Given the description of an element on the screen output the (x, y) to click on. 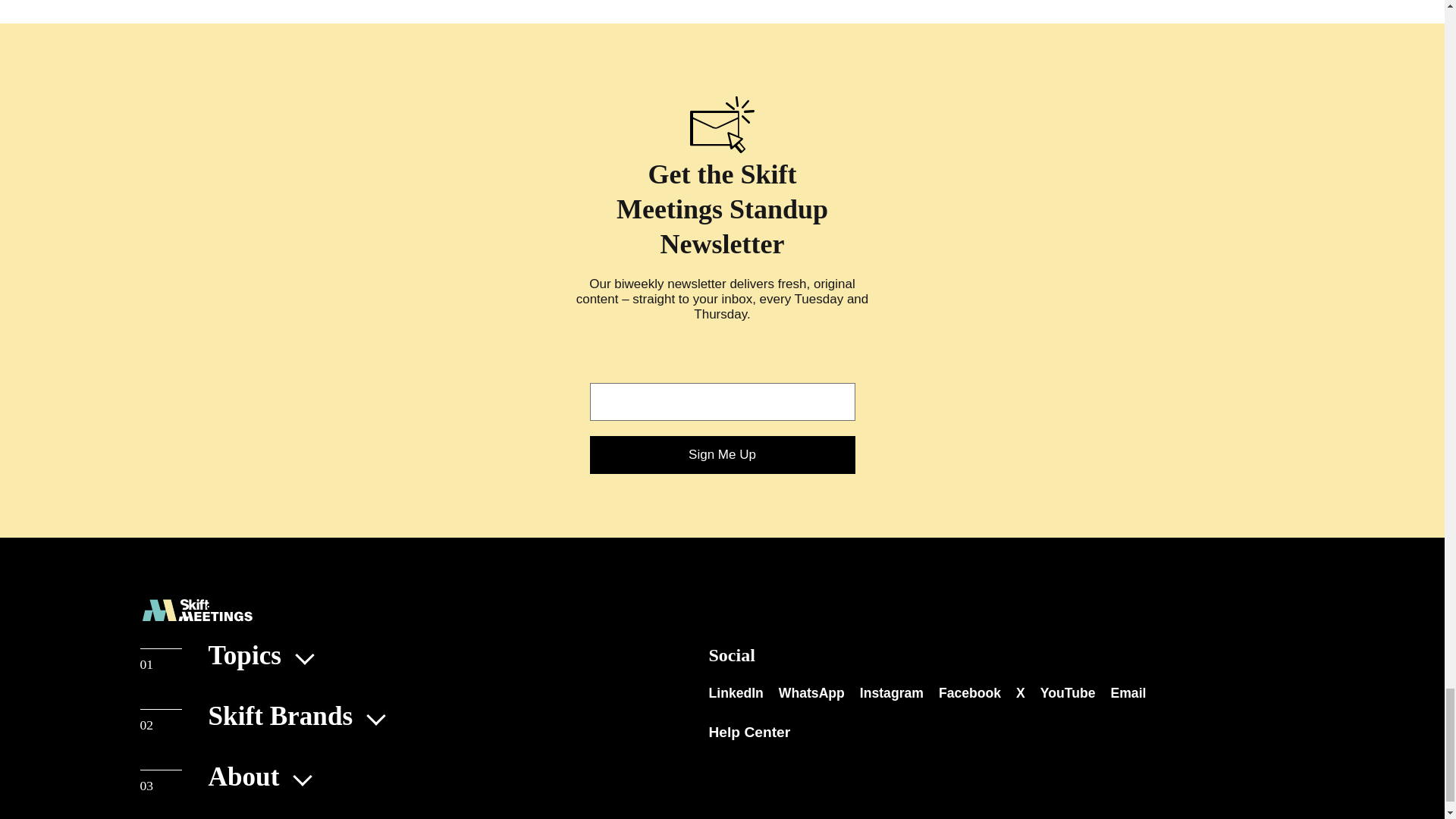
Sign Me Up (722, 454)
